Given the description of an element on the screen output the (x, y) to click on. 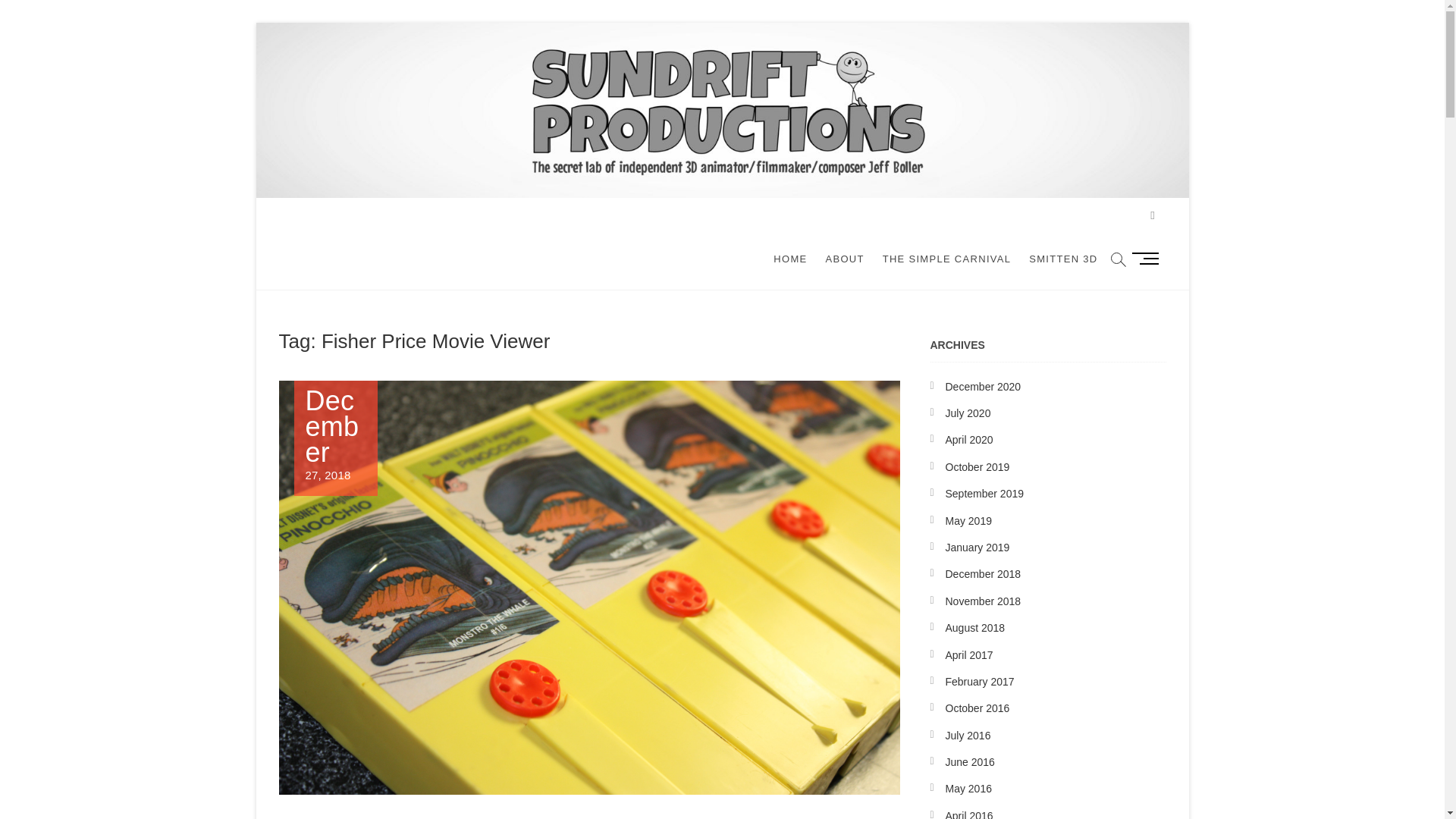
October 2019 (976, 467)
SMITTEN 3D (1063, 259)
July 2016 (967, 735)
December 2018 (982, 573)
ABOUT (334, 434)
October 2016 (843, 259)
April 2017 (976, 707)
August 2018 (968, 654)
December 2020 (974, 627)
February 2017 (982, 386)
September 2019 (978, 681)
November 2018 (983, 493)
THE SIMPLE CARNIVAL (982, 601)
